Given the description of an element on the screen output the (x, y) to click on. 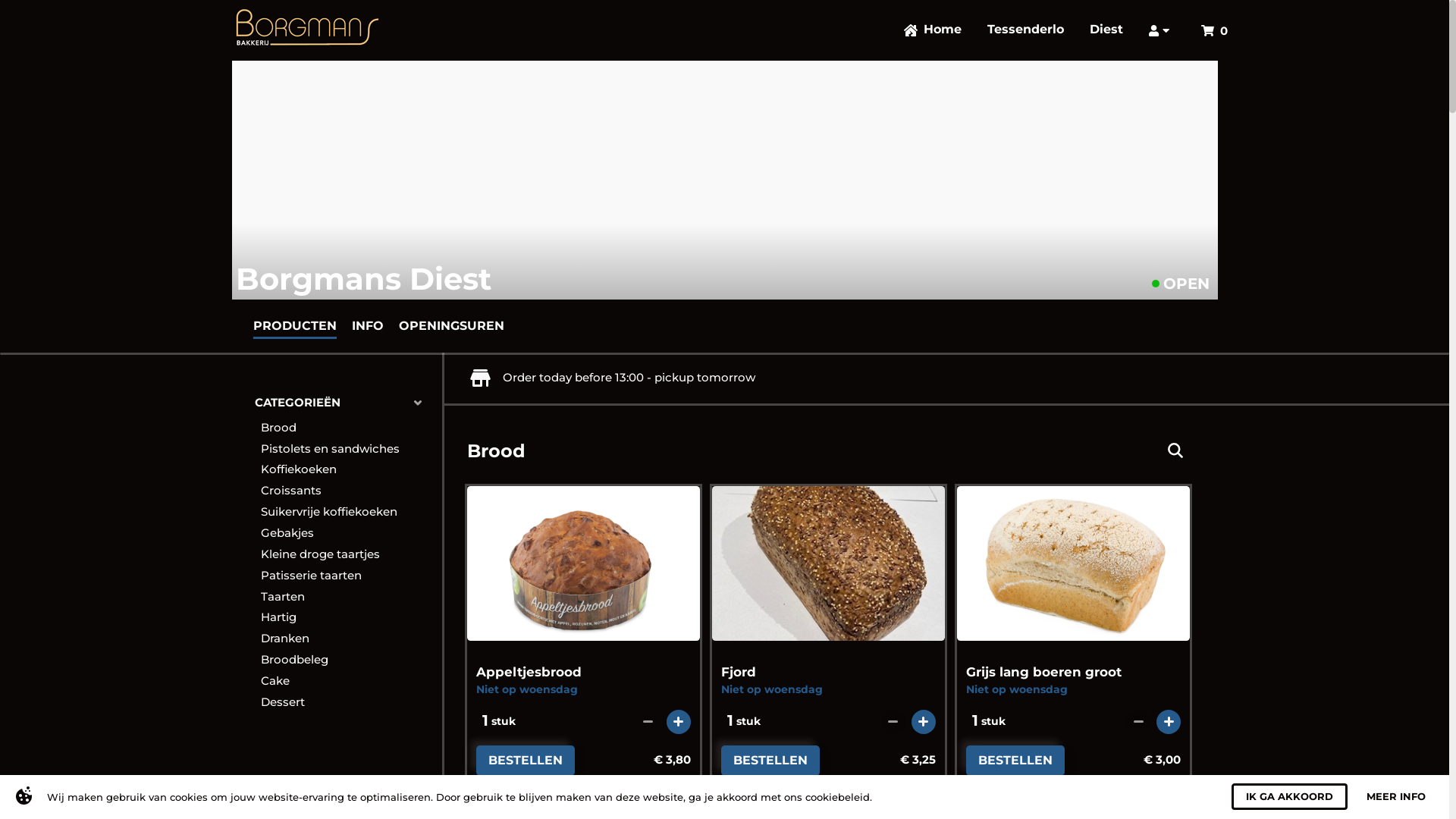
Taarten Element type: text (346, 596)
OPENINGSUREN Element type: text (451, 325)
Dranken Element type: text (346, 638)
Croissants Element type: text (346, 490)
Suikervrije koffiekoeken Element type: text (346, 511)
MEER INFO Element type: text (1395, 796)
Cake Element type: text (346, 680)
IK GA AKKOORD Element type: text (1289, 796)
PRODUCTEN Element type: text (294, 325)
Patisserie taarten Element type: text (346, 575)
Broodbeleg Element type: text (346, 659)
Tessenderlo Element type: text (1025, 30)
Kleine droge taartjes Element type: text (346, 554)
INFO Element type: text (367, 325)
Pistolets en sandwiches Element type: text (346, 448)
Grijs lang boeren groot Element type: text (1046, 672)
Home Element type: text (932, 30)
Order today before 13:00 - pickup tomorrow Element type: text (612, 377)
Diest Element type: text (1105, 30)
Hartig Element type: text (346, 617)
Brood Element type: text (346, 427)
0 Element type: text (1214, 29)
BESTELLEN Element type: text (1015, 760)
Dessert Element type: text (346, 702)
Gebakjes Element type: text (346, 532)
Fjord Element type: text (741, 672)
Koffiekoeken Element type: text (346, 470)
Appeltjesbrood Element type: text (531, 672)
BESTELLEN Element type: text (770, 760)
BESTELLEN Element type: text (525, 760)
